Given the description of an element on the screen output the (x, y) to click on. 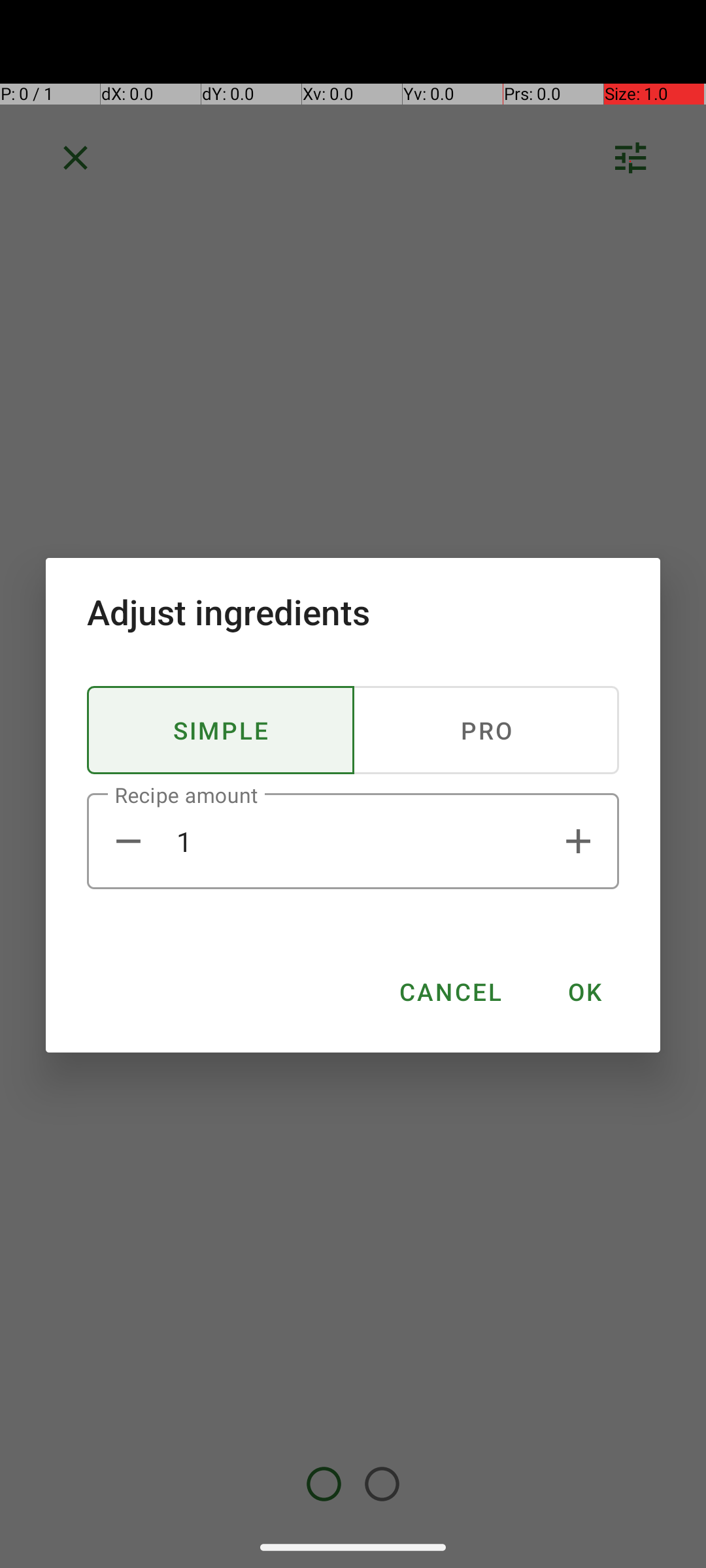
SIMPLE Element type: android.widget.CompoundButton (220, 730)
PRO Element type: android.widget.CompoundButton (485, 730)
